Given the description of an element on the screen output the (x, y) to click on. 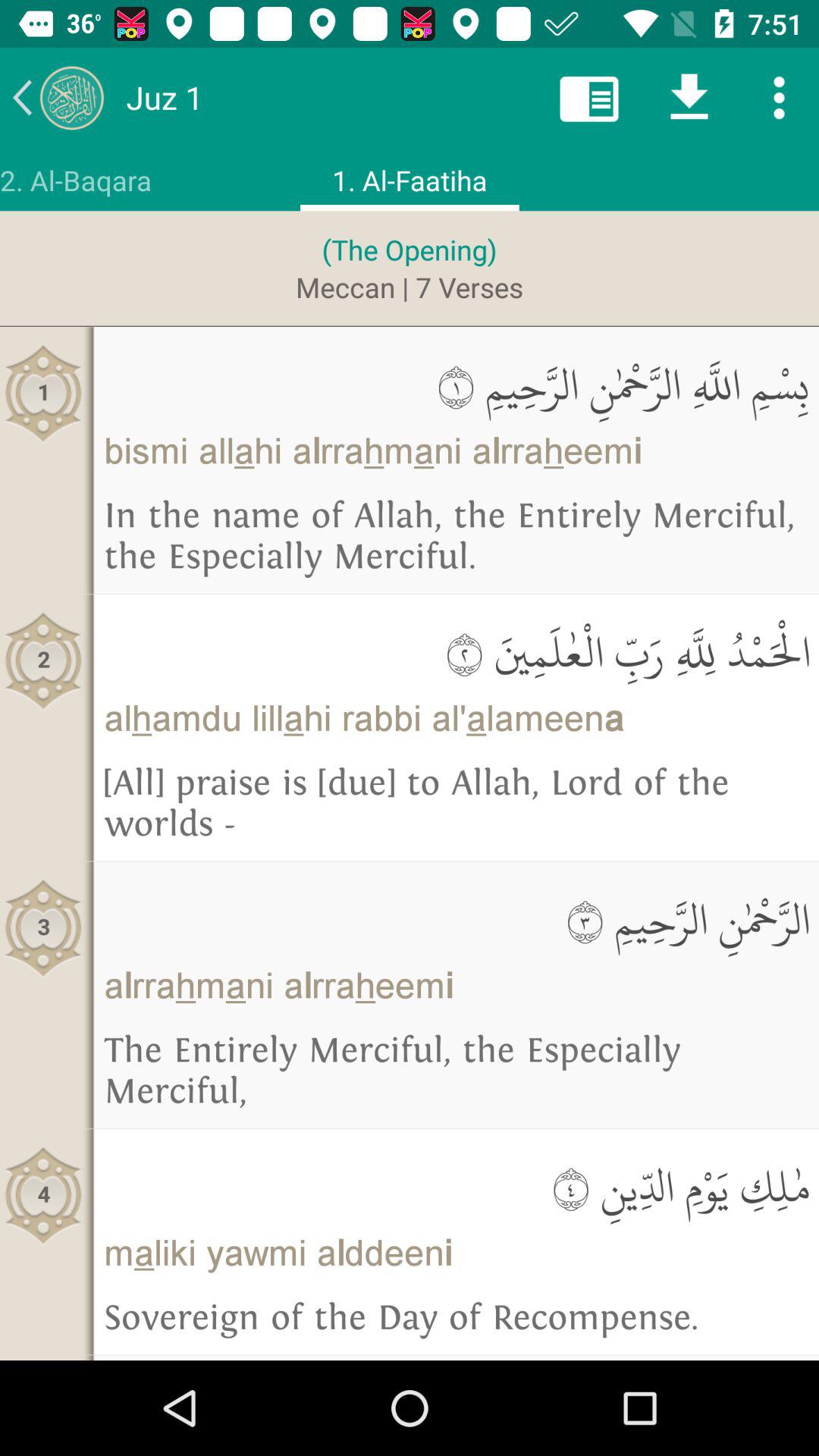
open 3 item (43, 928)
